Given the description of an element on the screen output the (x, y) to click on. 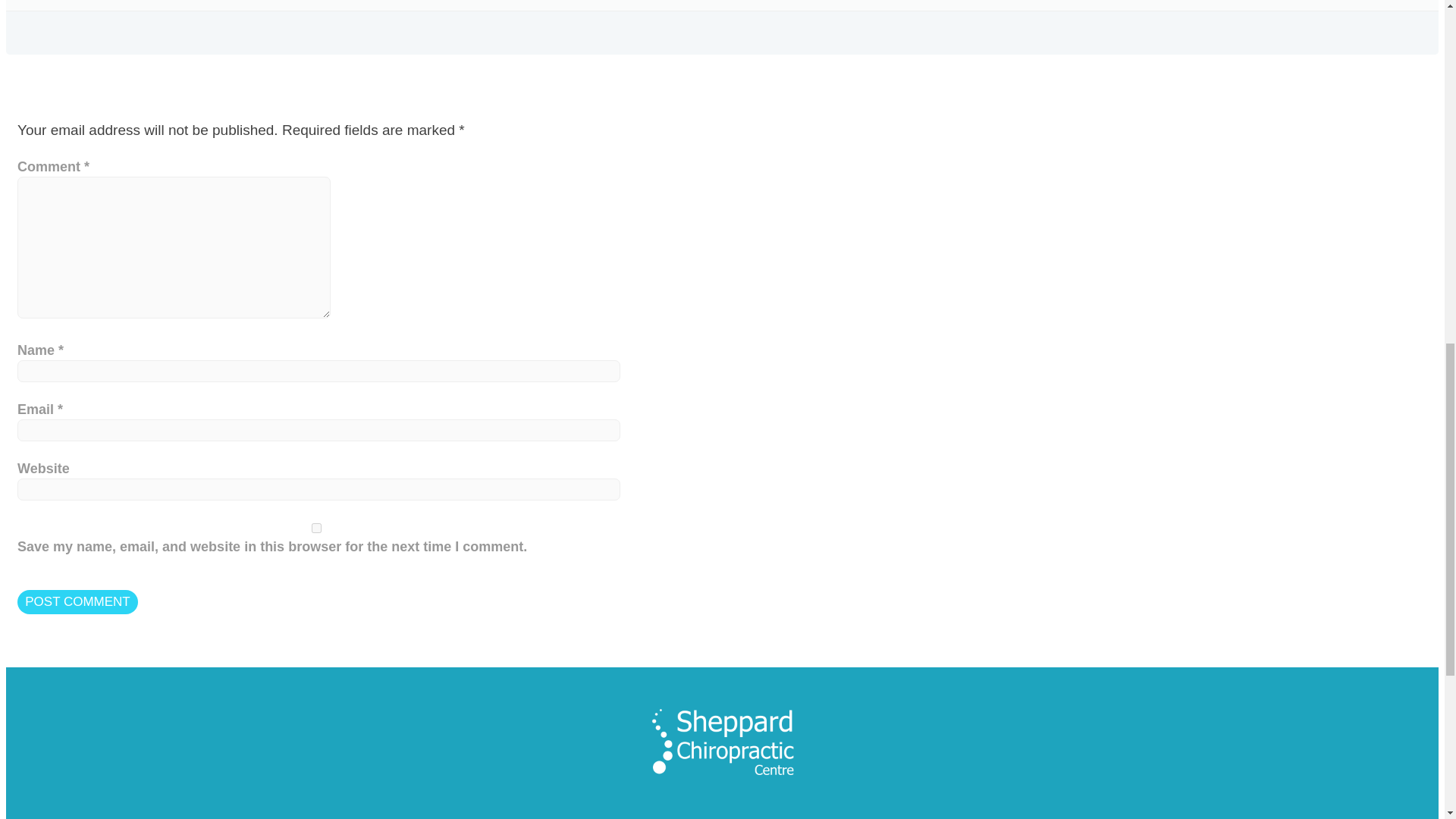
yes (316, 528)
Post Comment (77, 601)
Post Comment (77, 601)
